Given the description of an element on the screen output the (x, y) to click on. 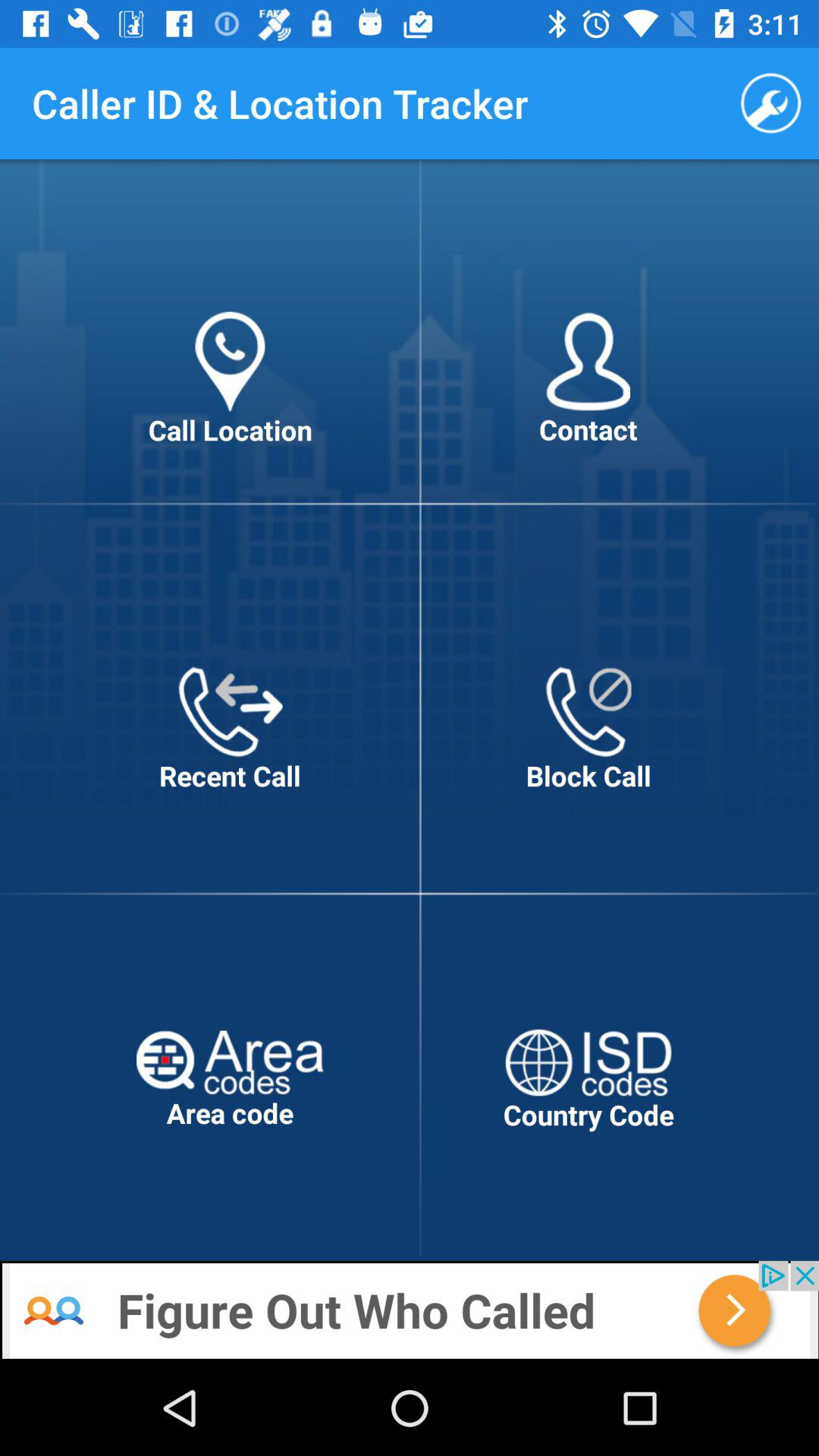
app advertisement (409, 1310)
